Given the description of an element on the screen output the (x, y) to click on. 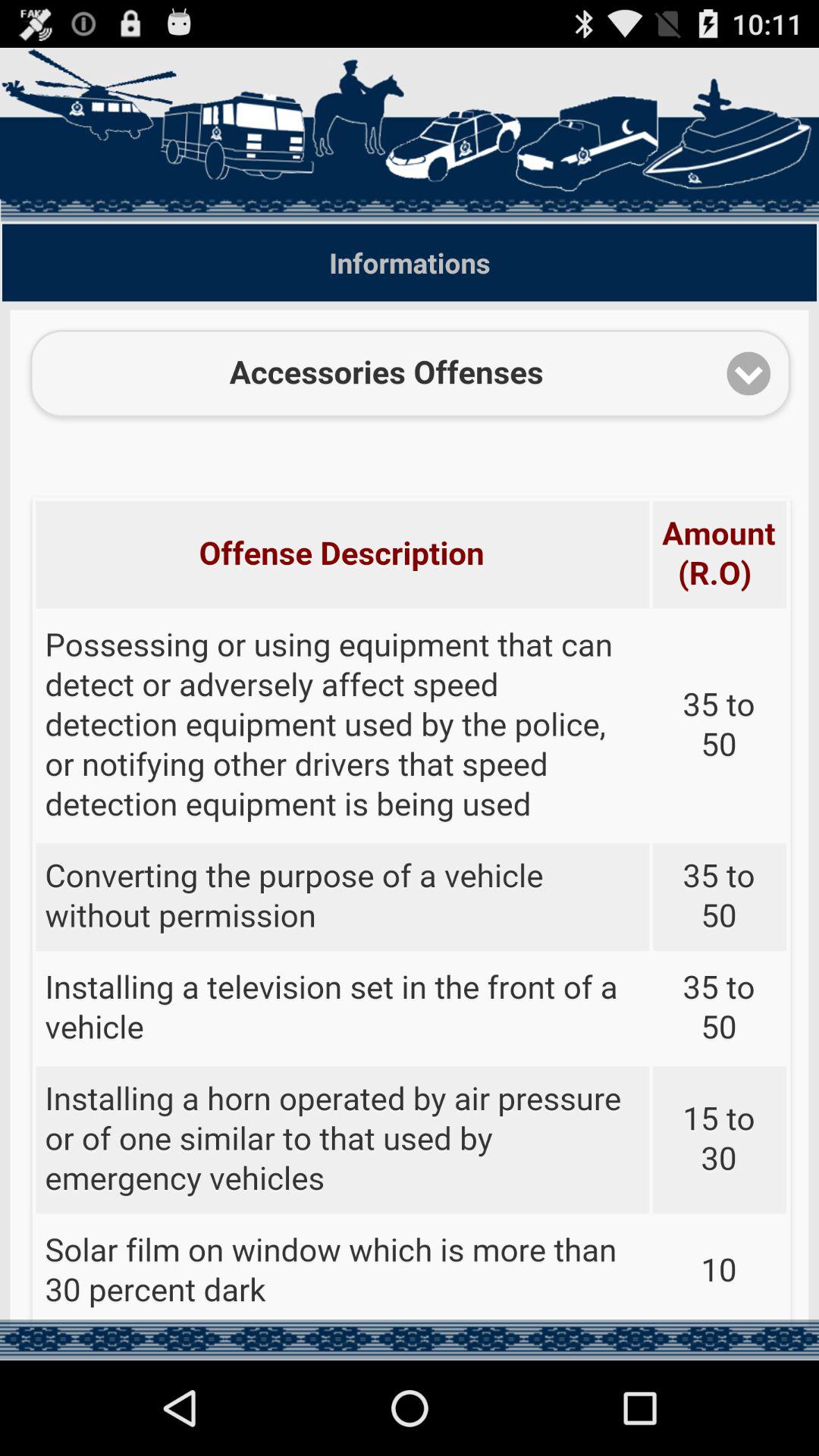
display offense description (409, 817)
